Given the description of an element on the screen output the (x, y) to click on. 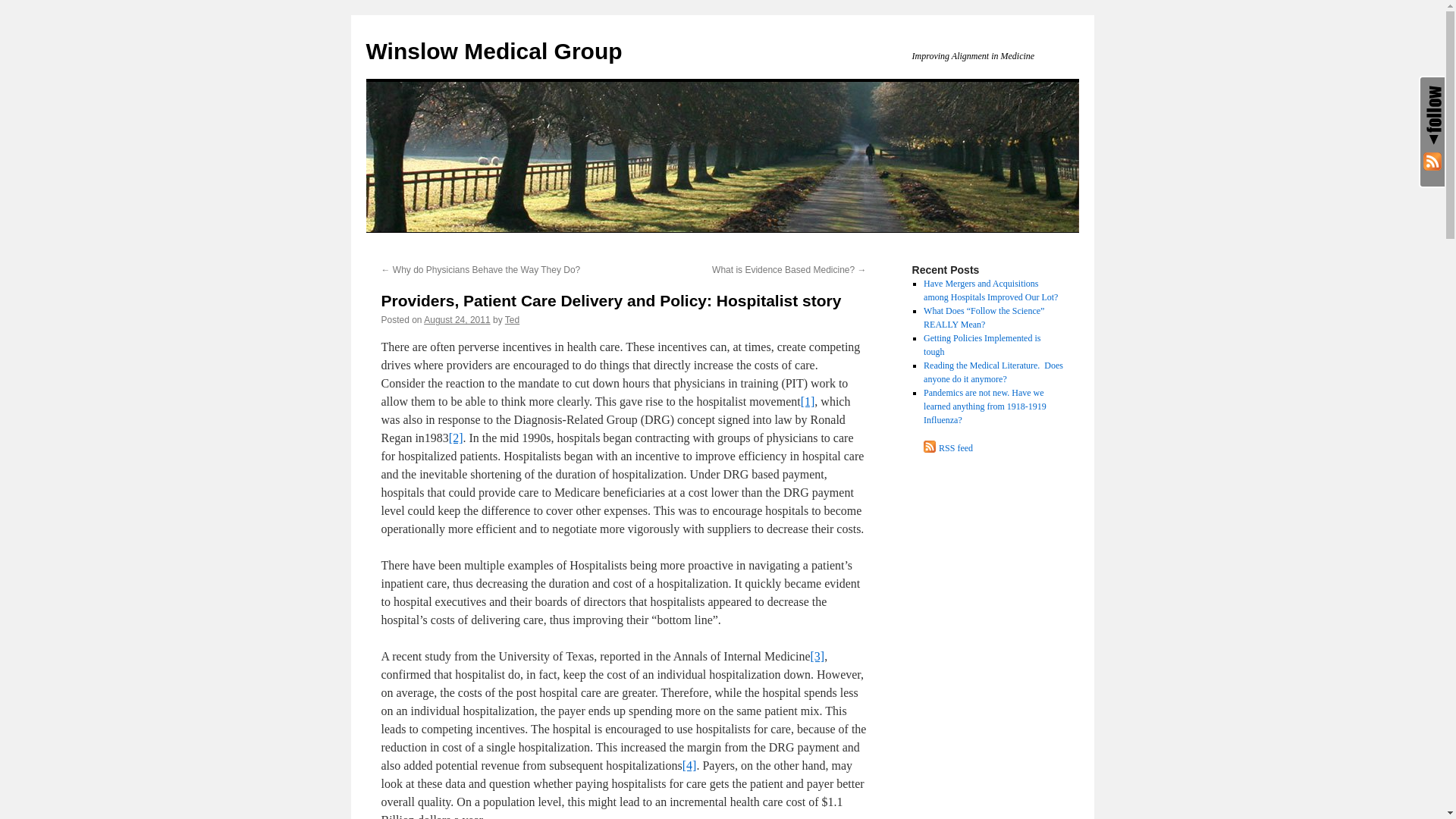
RSS (1432, 161)
RSS feed (990, 447)
9:01 am (456, 319)
Ted (512, 319)
August 24, 2011 (456, 319)
Winslow Medical Group (493, 50)
View all posts by Ted (512, 319)
